Given the description of an element on the screen output the (x, y) to click on. 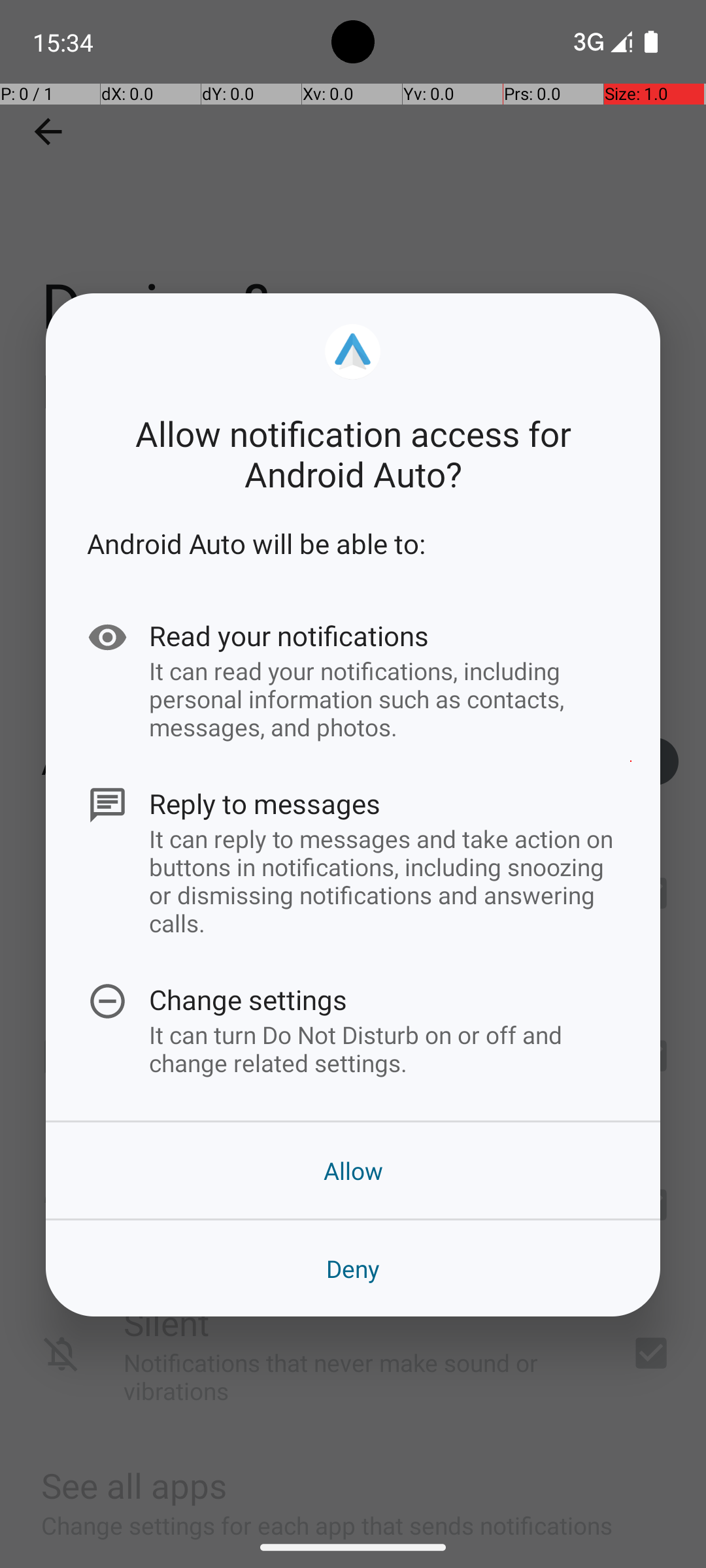
Allow notification access for Android Auto? Element type: android.widget.TextView (352, 453)
Android Auto will be able to: Element type: android.widget.TextView (352, 542)
Read your notifications Element type: android.widget.TextView (384, 634)
It can read your notifications, including personal information such as contacts, messages, and photos. Element type: android.widget.TextView (384, 698)
Reply to messages Element type: android.widget.TextView (384, 802)
It can reply to messages and take action on buttons in notifications, including snoozing or dismissing notifications and answering calls. Element type: android.widget.TextView (384, 880)
Change settings Element type: android.widget.TextView (384, 998)
It can turn Do Not Disturb on or off and change related settings. Element type: android.widget.TextView (384, 1048)
Allow Element type: android.widget.Button (352, 1170)
Deny Element type: android.widget.Button (352, 1268)
